Given the description of an element on the screen output the (x, y) to click on. 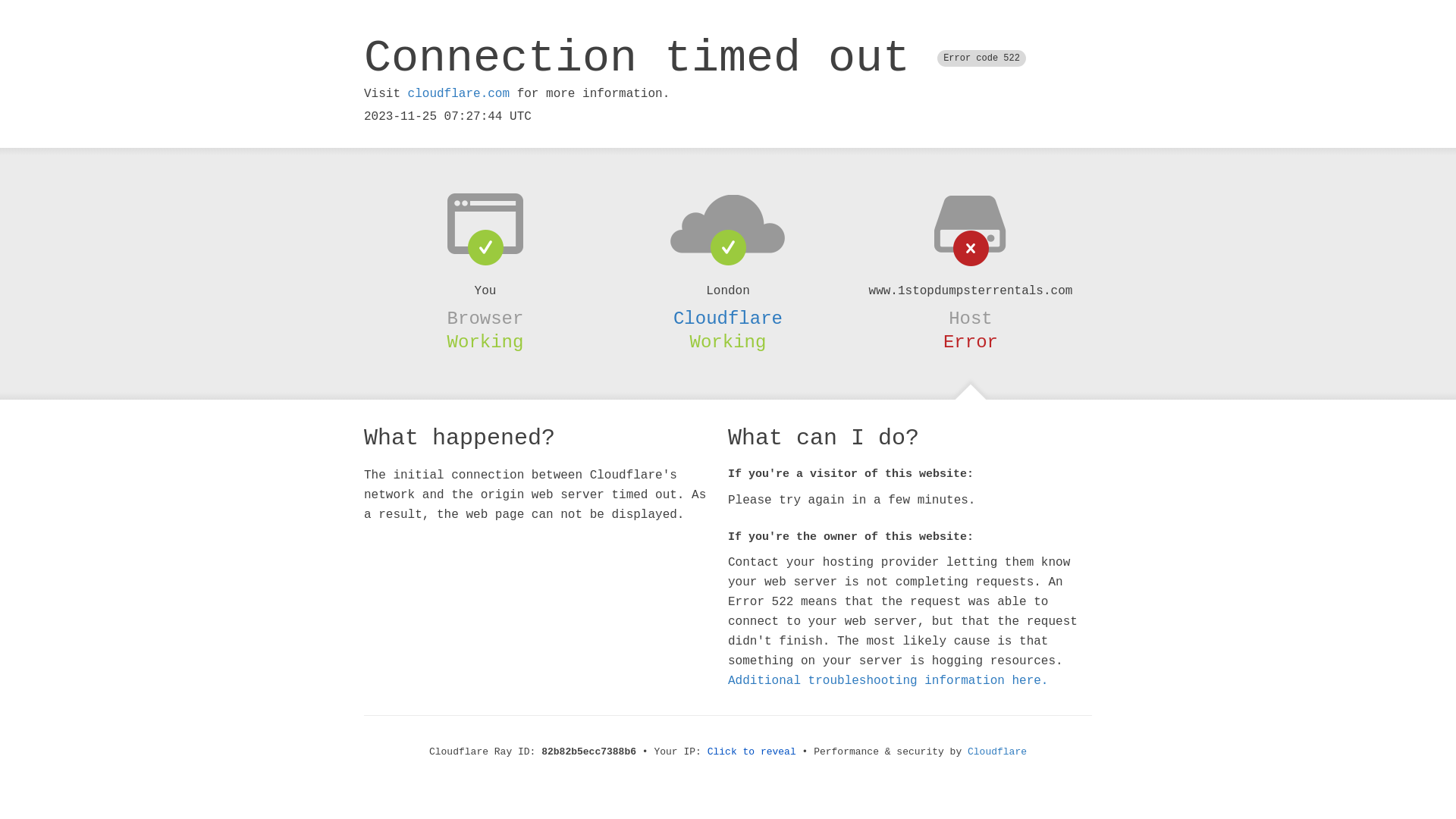
Cloudflare Element type: text (727, 318)
Cloudflare Element type: text (996, 751)
Click to reveal Element type: text (751, 751)
cloudflare.com Element type: text (458, 93)
Additional troubleshooting information here. Element type: text (888, 680)
